Given the description of an element on the screen output the (x, y) to click on. 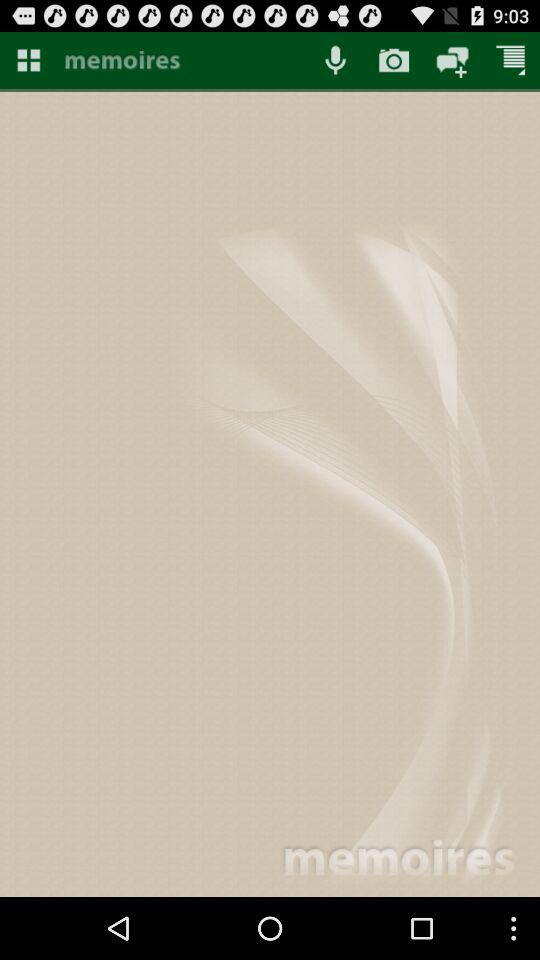
send new message (452, 60)
